Given the description of an element on the screen output the (x, y) to click on. 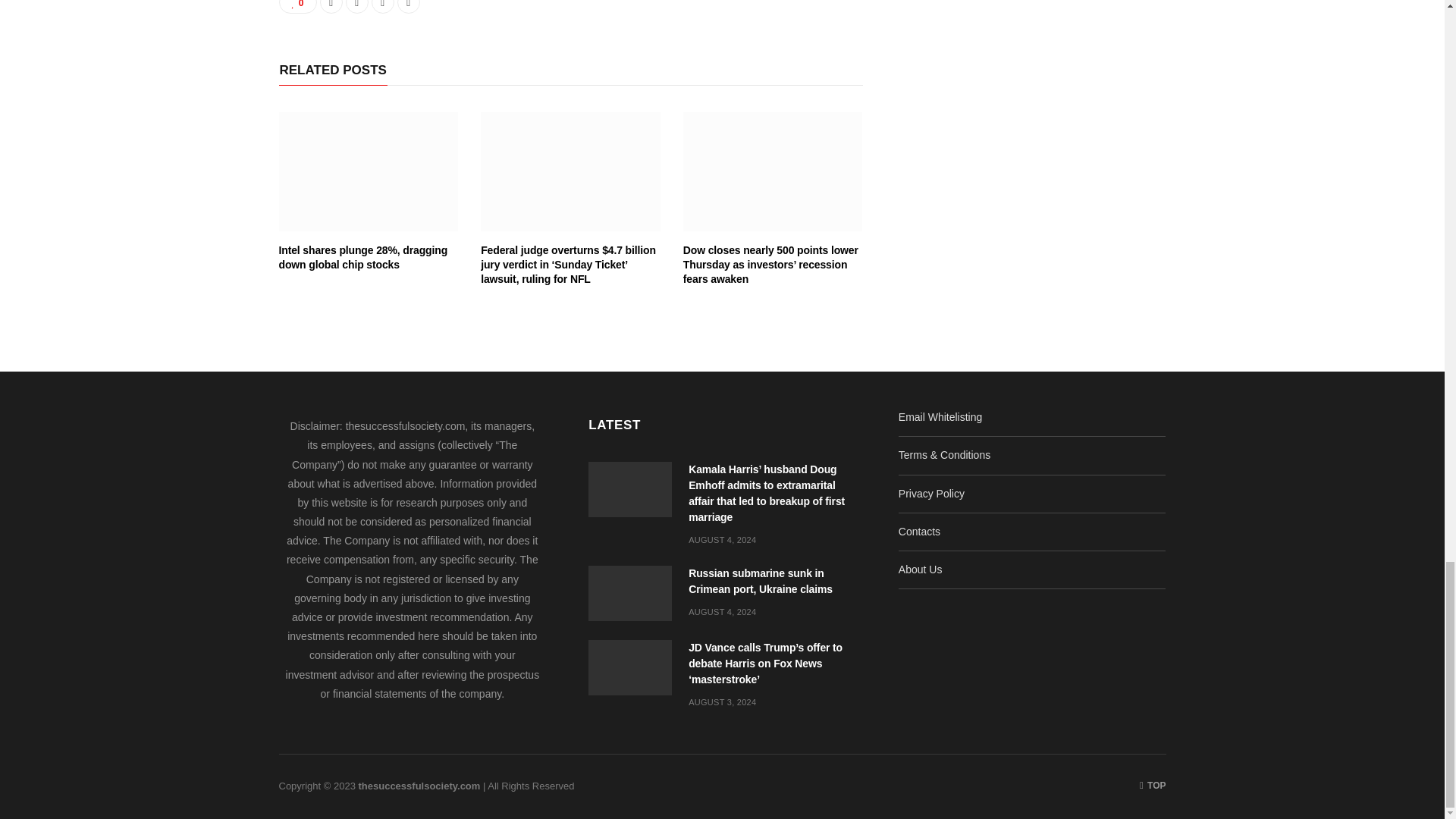
0 (298, 6)
